Given the description of an element on the screen output the (x, y) to click on. 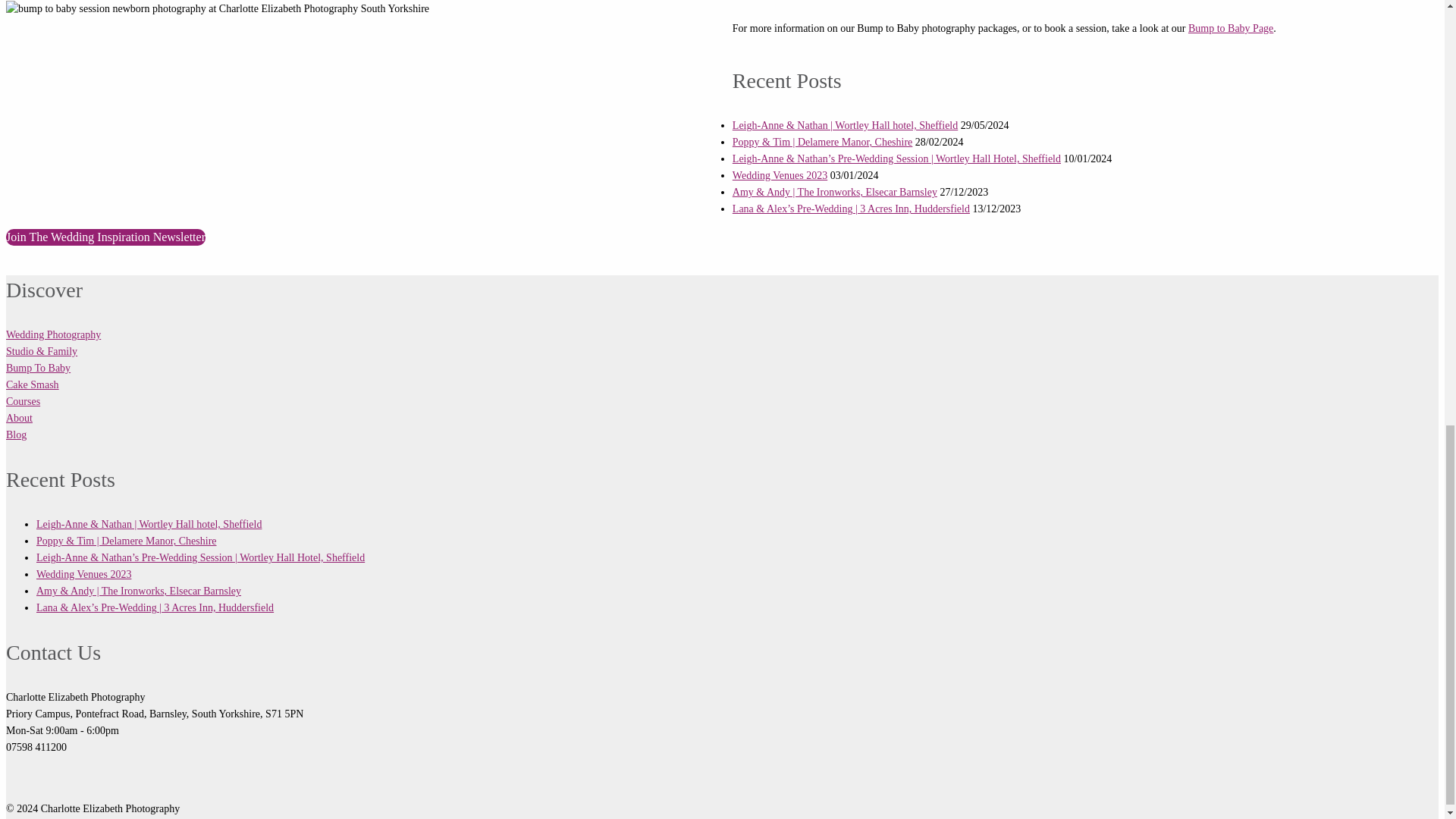
Wedding Venues 2023 (779, 174)
